Given the description of an element on the screen output the (x, y) to click on. 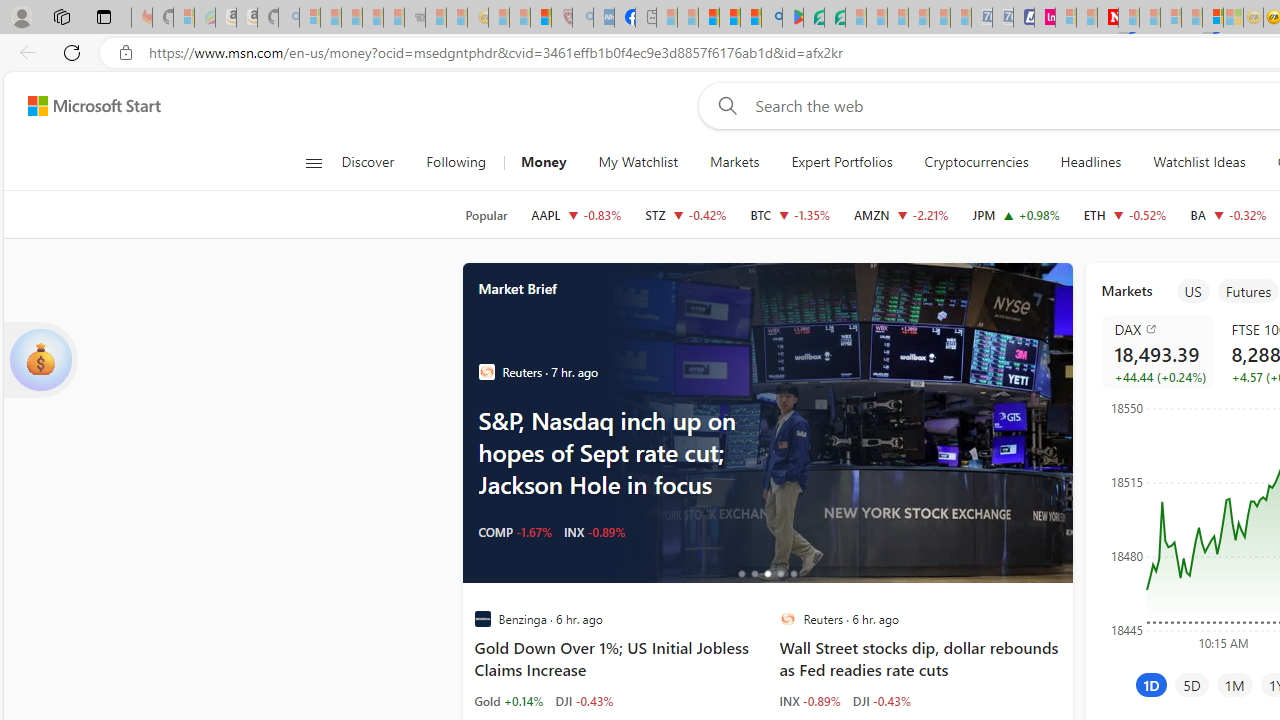
Microsoft Start - Sleeping (1086, 17)
Pets - MSN (729, 17)
Microsoft account | Privacy - Sleeping (1066, 17)
DJI -0.43% (881, 700)
Headlines (1090, 162)
DAX DAX increase 18,493.39 +44.44 +0.24% (1156, 351)
item2 (1248, 291)
NCL Adult Asthma Inhaler Choice Guideline - Sleeping (603, 17)
Money (543, 162)
Trusted Community Engagement and Contributions | Guidelines (1128, 17)
